Given the description of an element on the screen output the (x, y) to click on. 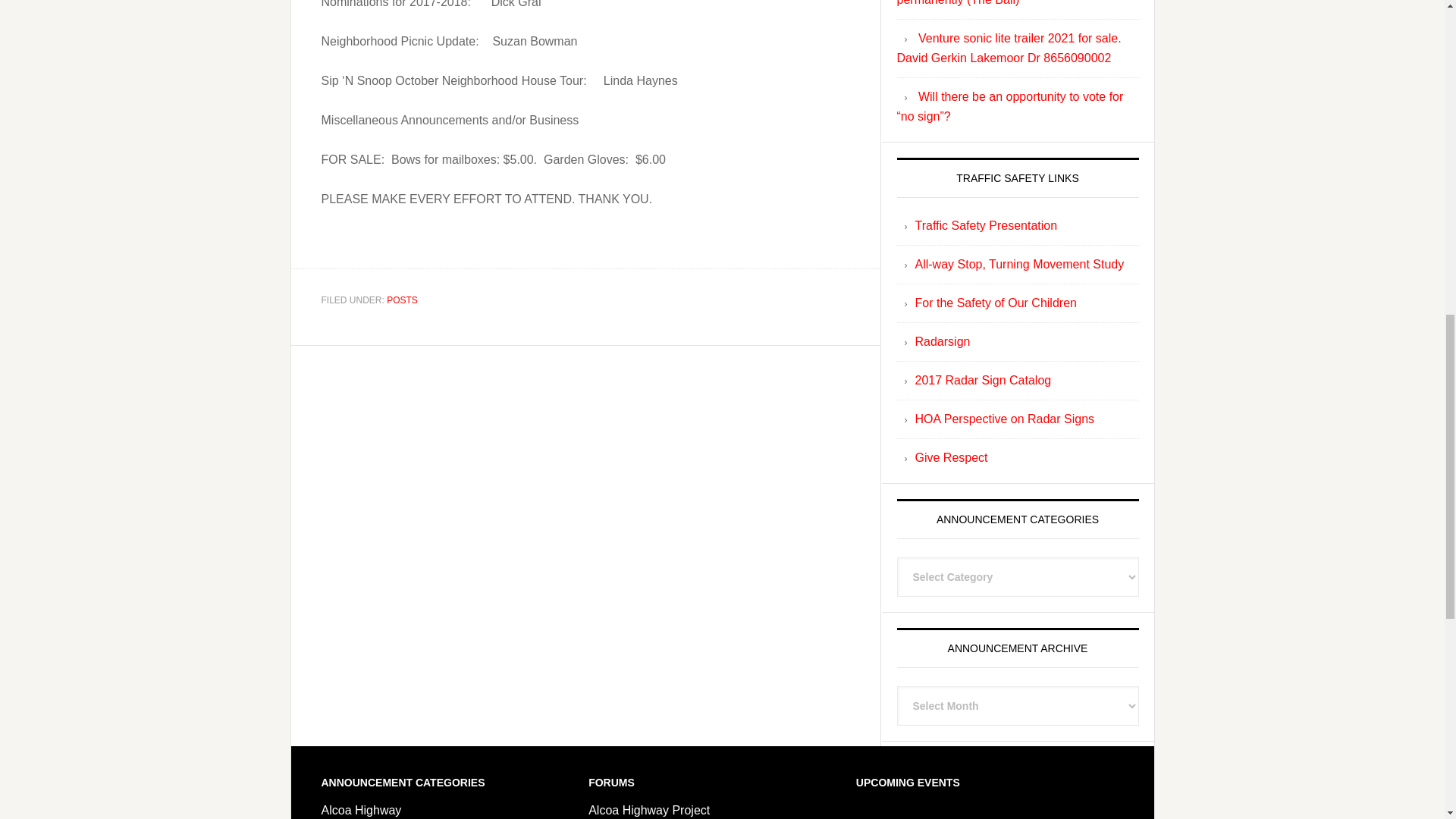
POSTS (402, 299)
